Given the description of an element on the screen output the (x, y) to click on. 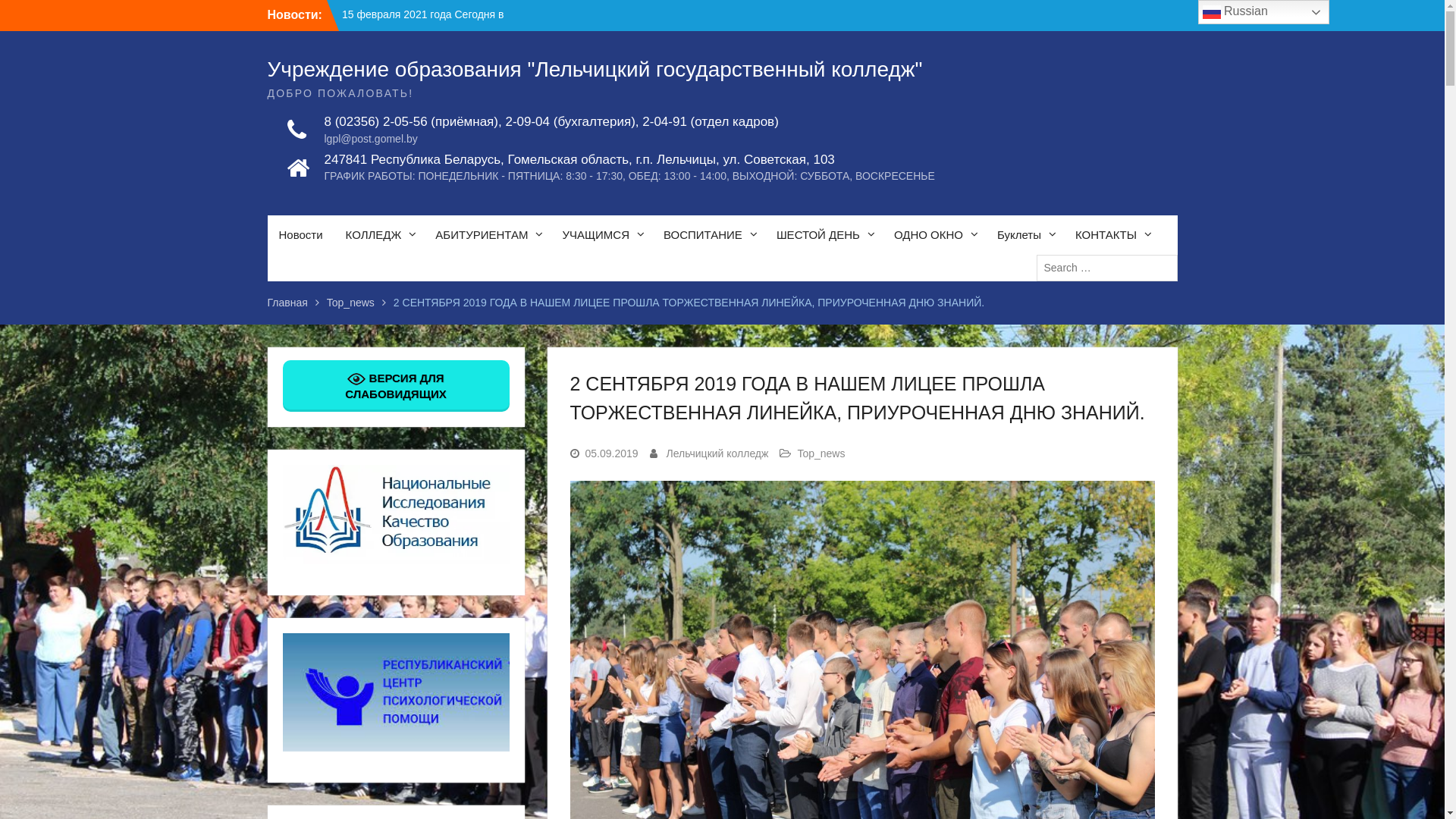
Top_news Element type: text (820, 453)
lgpl@post.gomel.by Element type: text (550, 139)
05.09.2019 Element type: text (611, 453)
Russian Element type: text (1263, 12)
Top_news Element type: text (350, 302)
